Given the description of an element on the screen output the (x, y) to click on. 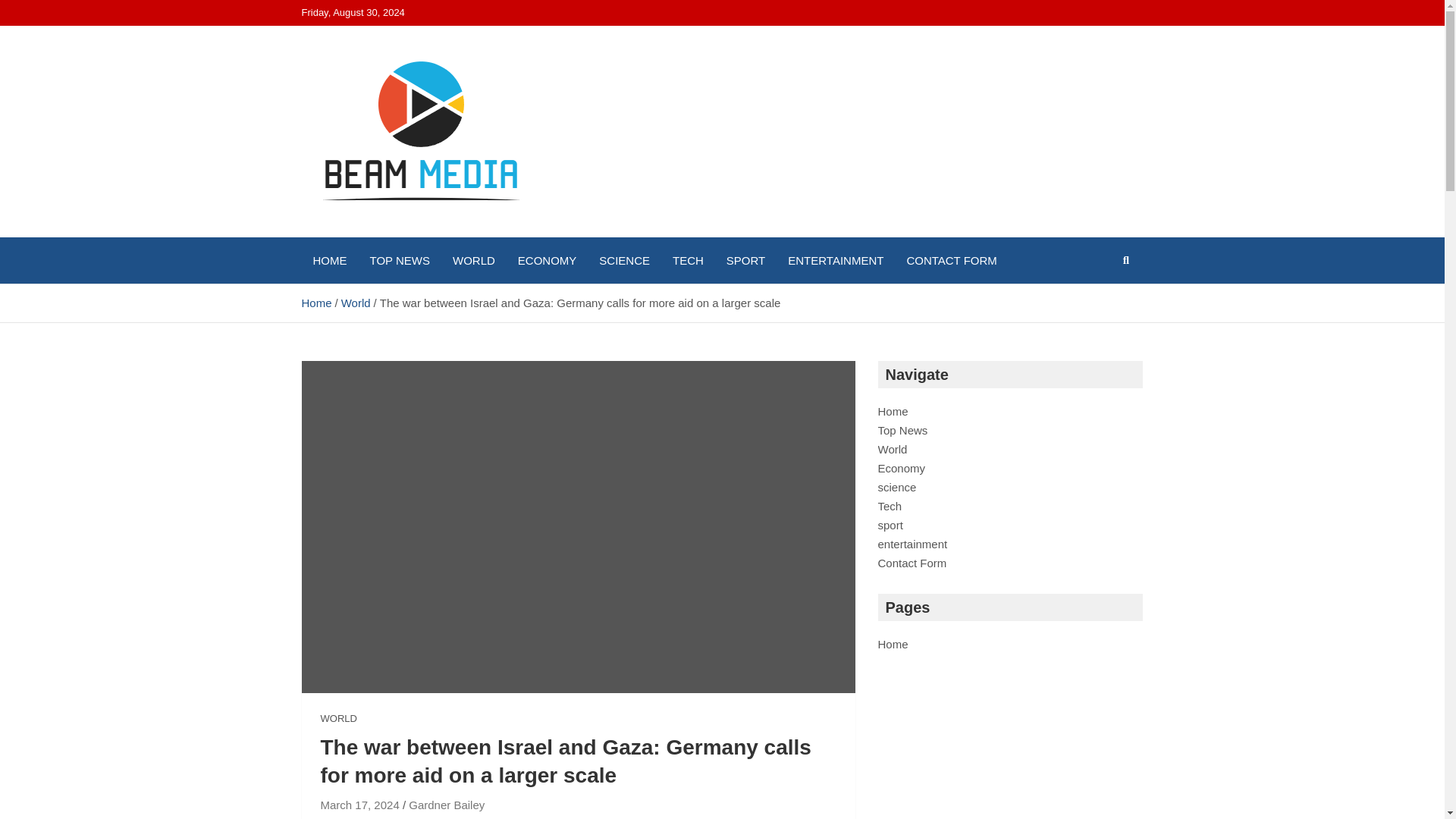
HOME (329, 260)
Home (892, 410)
Economy (901, 468)
sport (889, 524)
World (892, 449)
SPORT (745, 260)
Home (316, 302)
CONTACT FORM (951, 260)
Tech (889, 505)
